Given the description of an element on the screen output the (x, y) to click on. 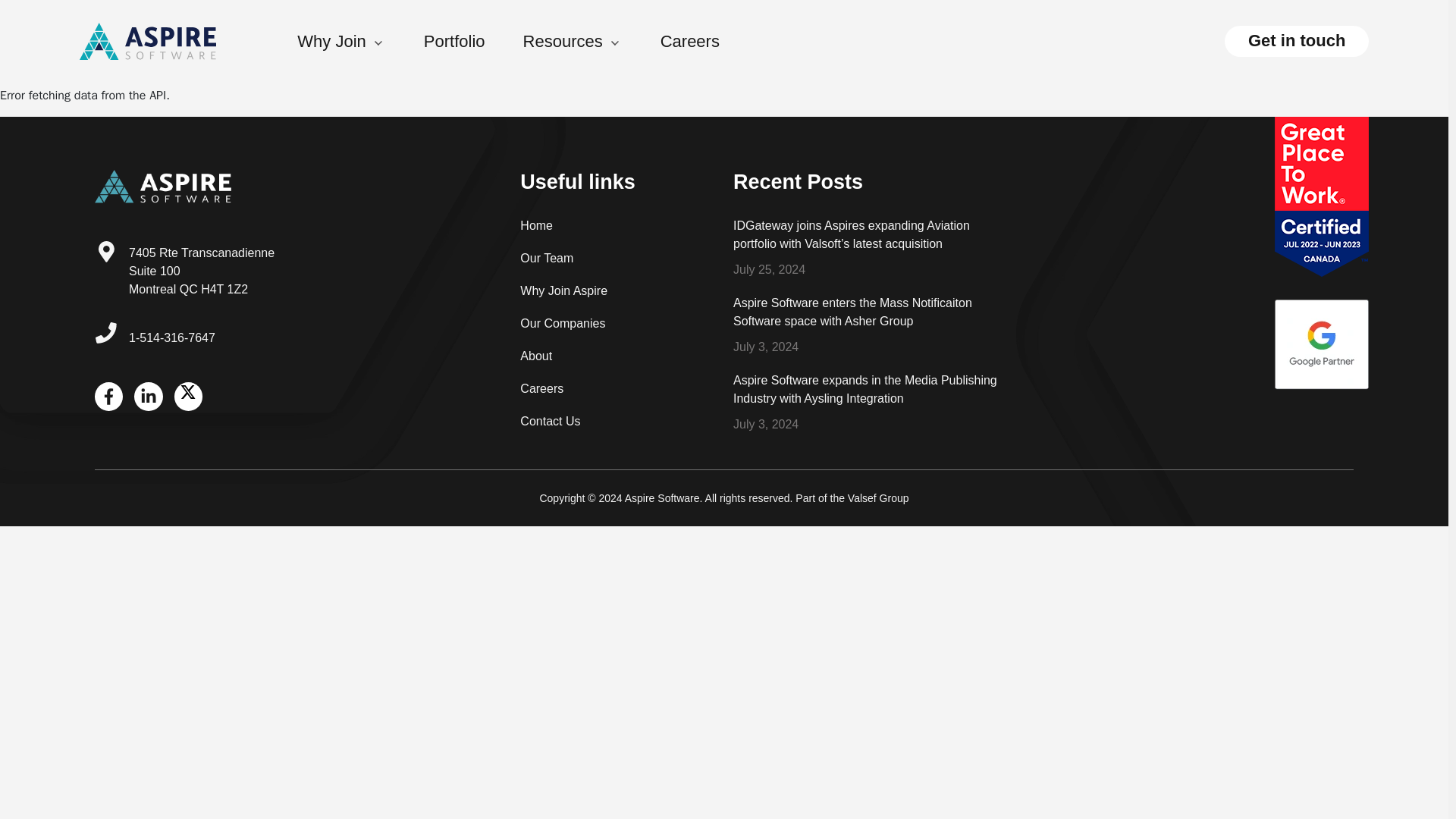
Home (616, 231)
Careers (709, 41)
Our Companies (616, 328)
Get in touch (1296, 40)
Portfolio (472, 41)
Resources (591, 41)
Careers (616, 394)
1-514-316-7647 (172, 337)
Why Join Aspire (616, 296)
Our Team (616, 264)
Contact Us (616, 427)
About (616, 361)
Home (616, 231)
Why Join (360, 41)
Our Team (616, 264)
